Given the description of an element on the screen output the (x, y) to click on. 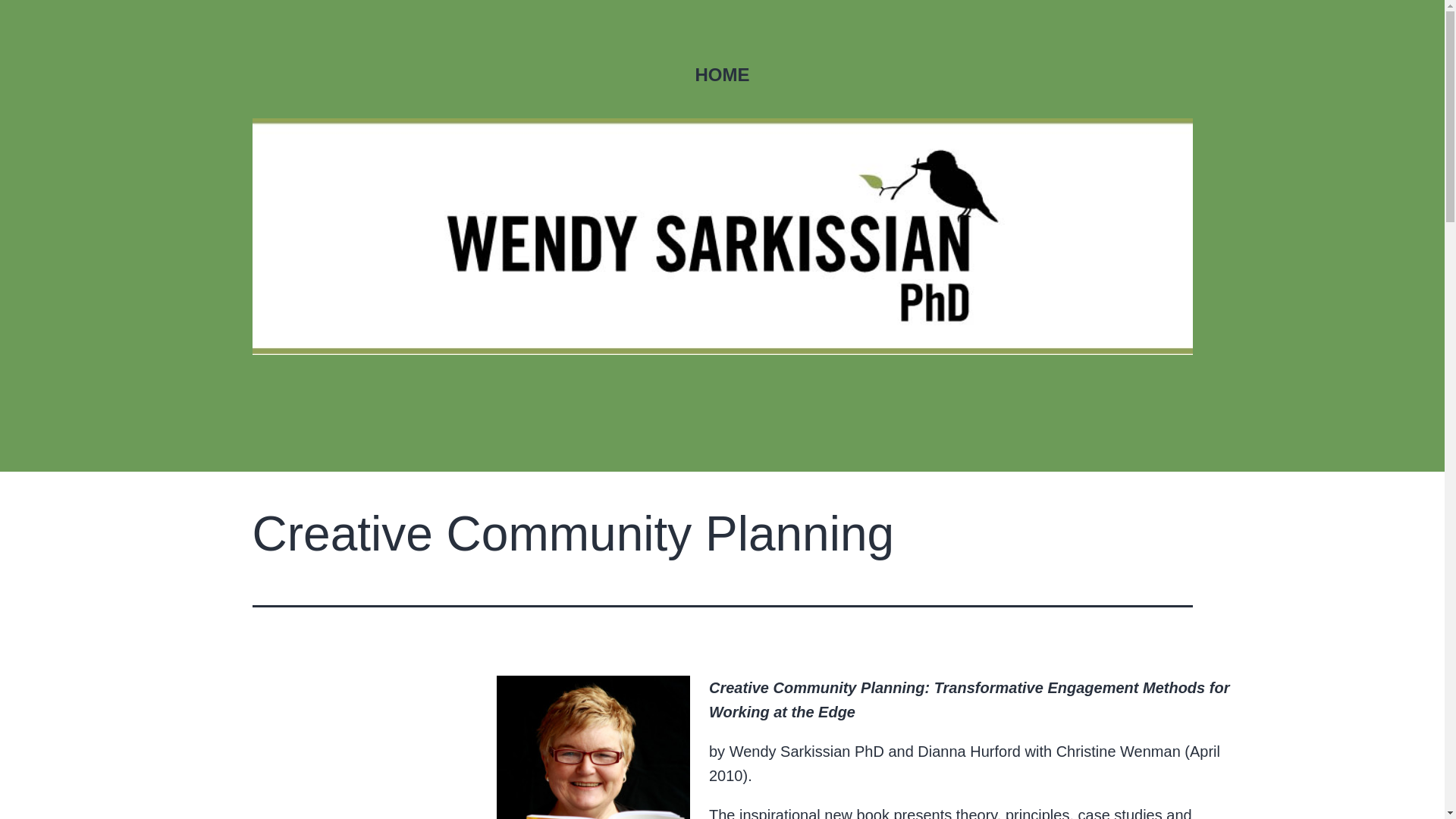
HOME (721, 74)
